Given the description of an element on the screen output the (x, y) to click on. 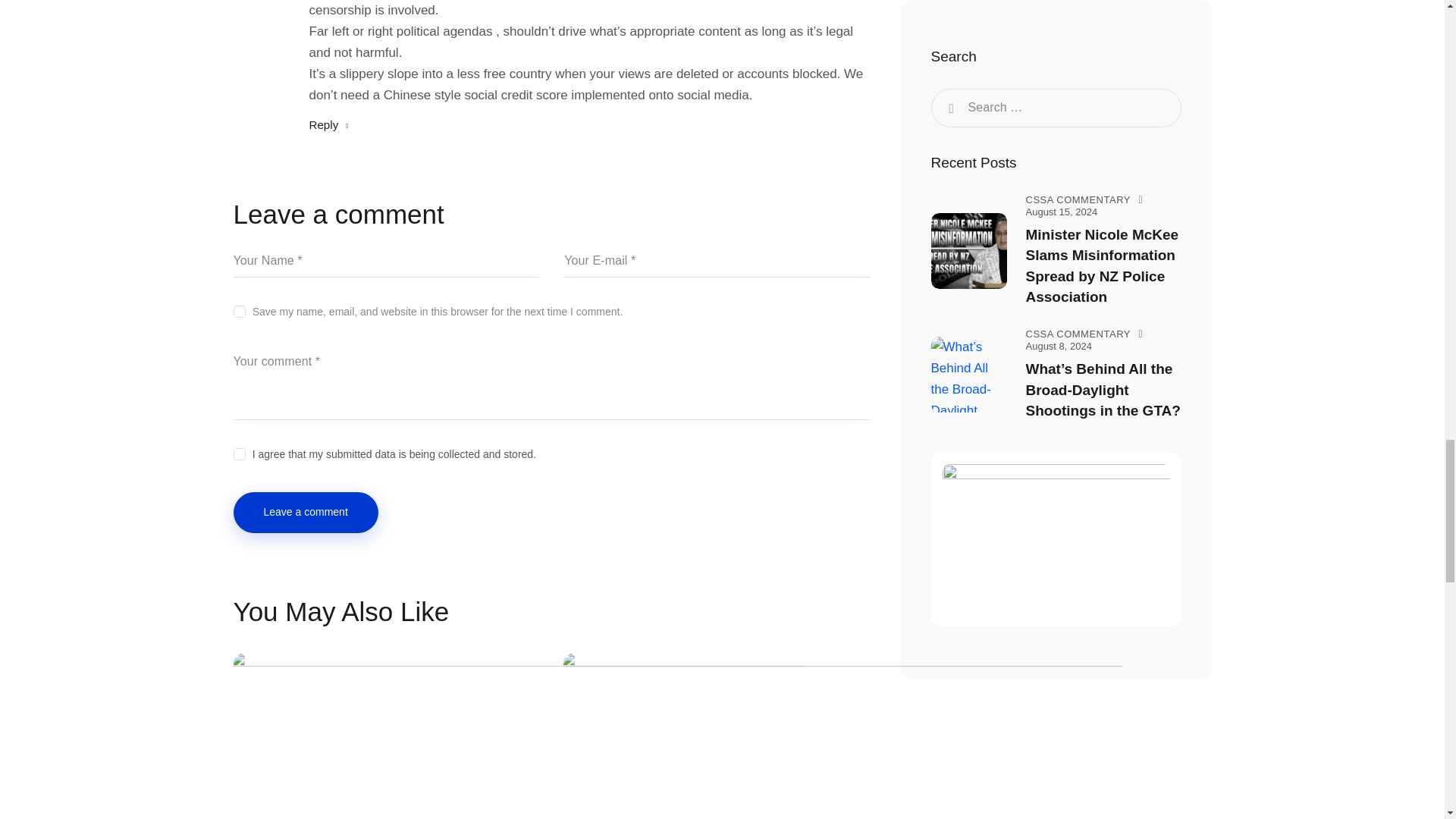
Leave a comment (305, 512)
1 (551, 450)
yes (237, 307)
